Given the description of an element on the screen output the (x, y) to click on. 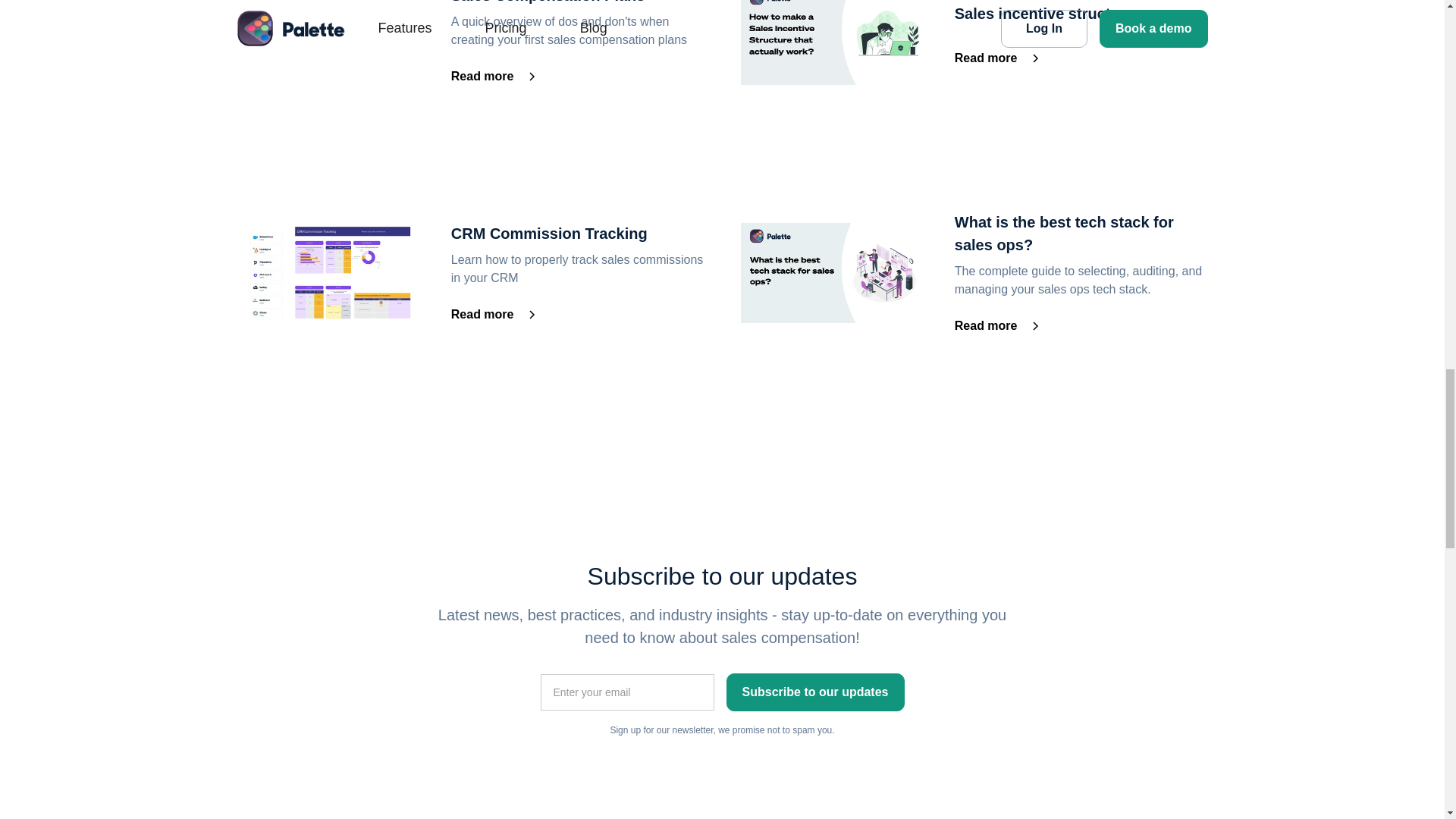
Sales Compensation Plans (577, 3)
Subscribe to our updates (815, 692)
Read more (494, 314)
CRM Commission Tracking (577, 232)
Read more (998, 325)
Subscribe to our updates (815, 692)
Read more (998, 58)
Sales incentive structure (1081, 13)
Read more (494, 76)
What is the best tech stack for sales ops? (1081, 233)
